Given the description of an element on the screen output the (x, y) to click on. 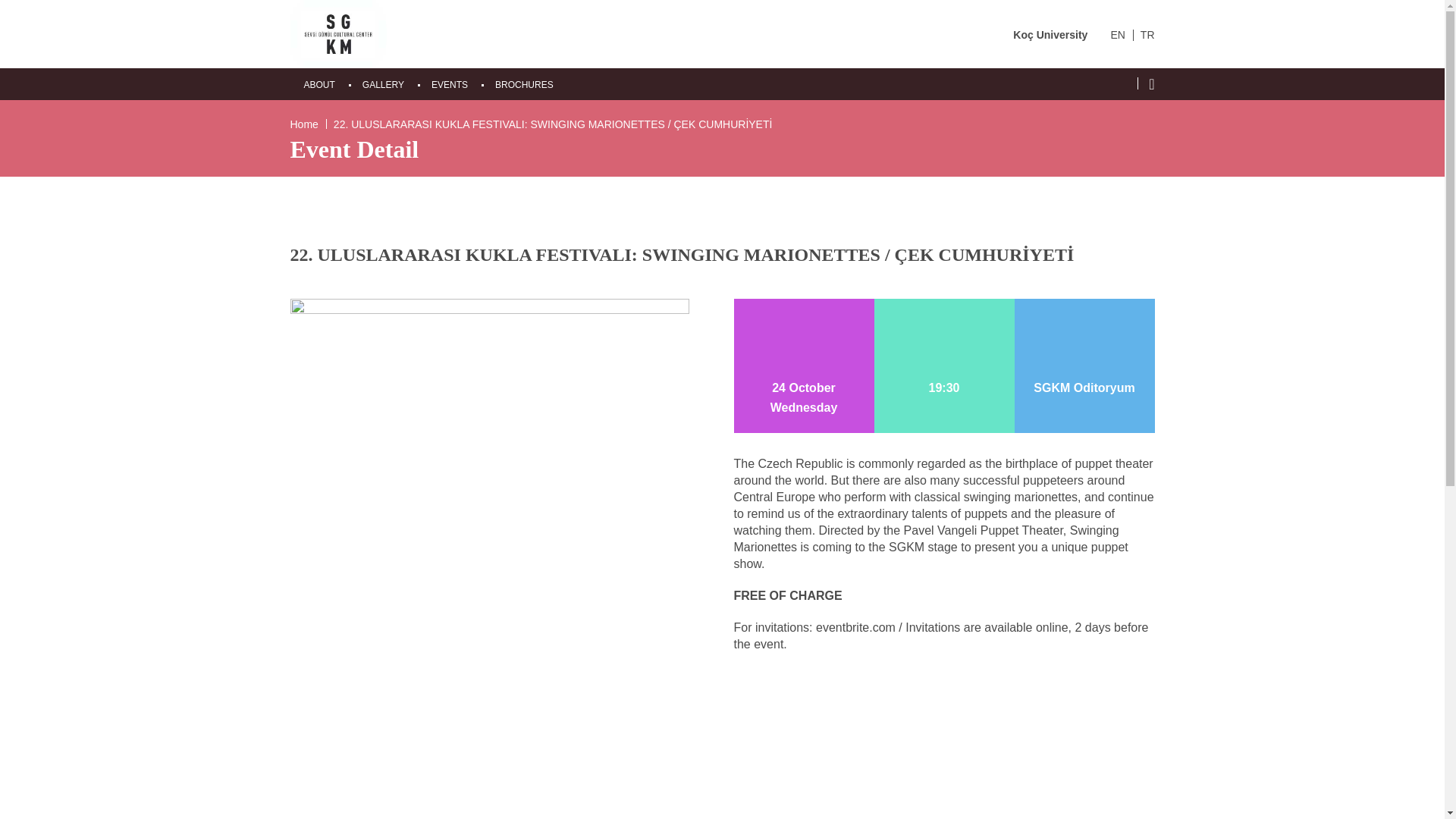
BROCHURES (524, 84)
EVENTS (448, 84)
GALLERY (383, 84)
KU (337, 33)
ABOUT (318, 84)
TR (1147, 34)
EN (1116, 34)
